Given the description of an element on the screen output the (x, y) to click on. 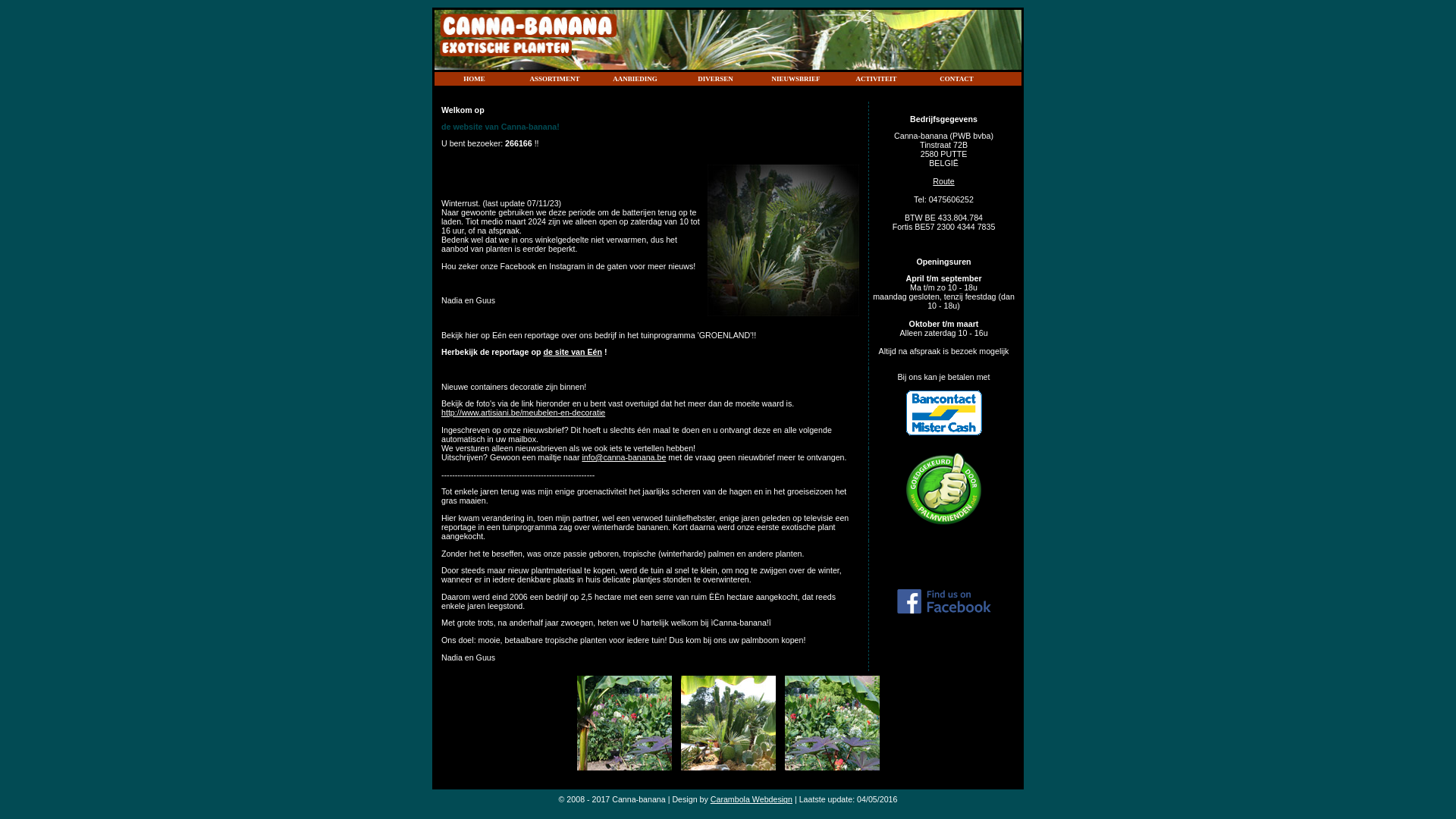
Carambola Webdesign Element type: text (751, 798)
http://www.artisiani.be/meubelen-en-decoratie Element type: text (523, 412)
CONTACT Element type: text (956, 78)
info@canna-banana.be Element type: text (623, 456)
DIVERSEN Element type: text (715, 78)
ASSORTIMENT Element type: text (554, 78)
Route Element type: text (942, 180)
HOME Element type: text (474, 78)
AANBIEDING Element type: text (634, 78)
NIEUWSBRIEF Element type: text (795, 78)
ACTIVITEIT Element type: text (876, 78)
